Given the description of an element on the screen output the (x, y) to click on. 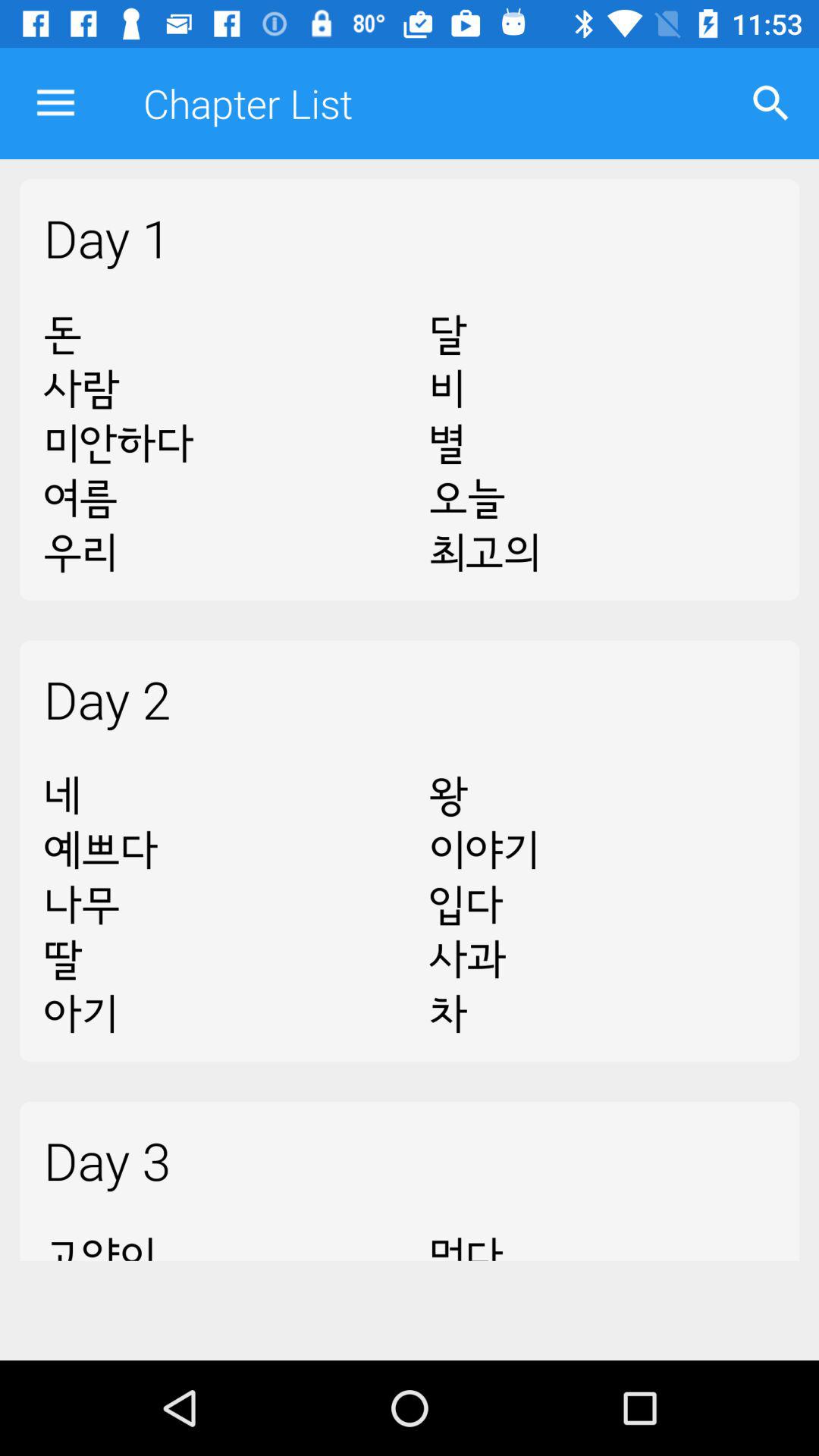
tap the icon below day 3 (602, 1237)
